Given the description of an element on the screen output the (x, y) to click on. 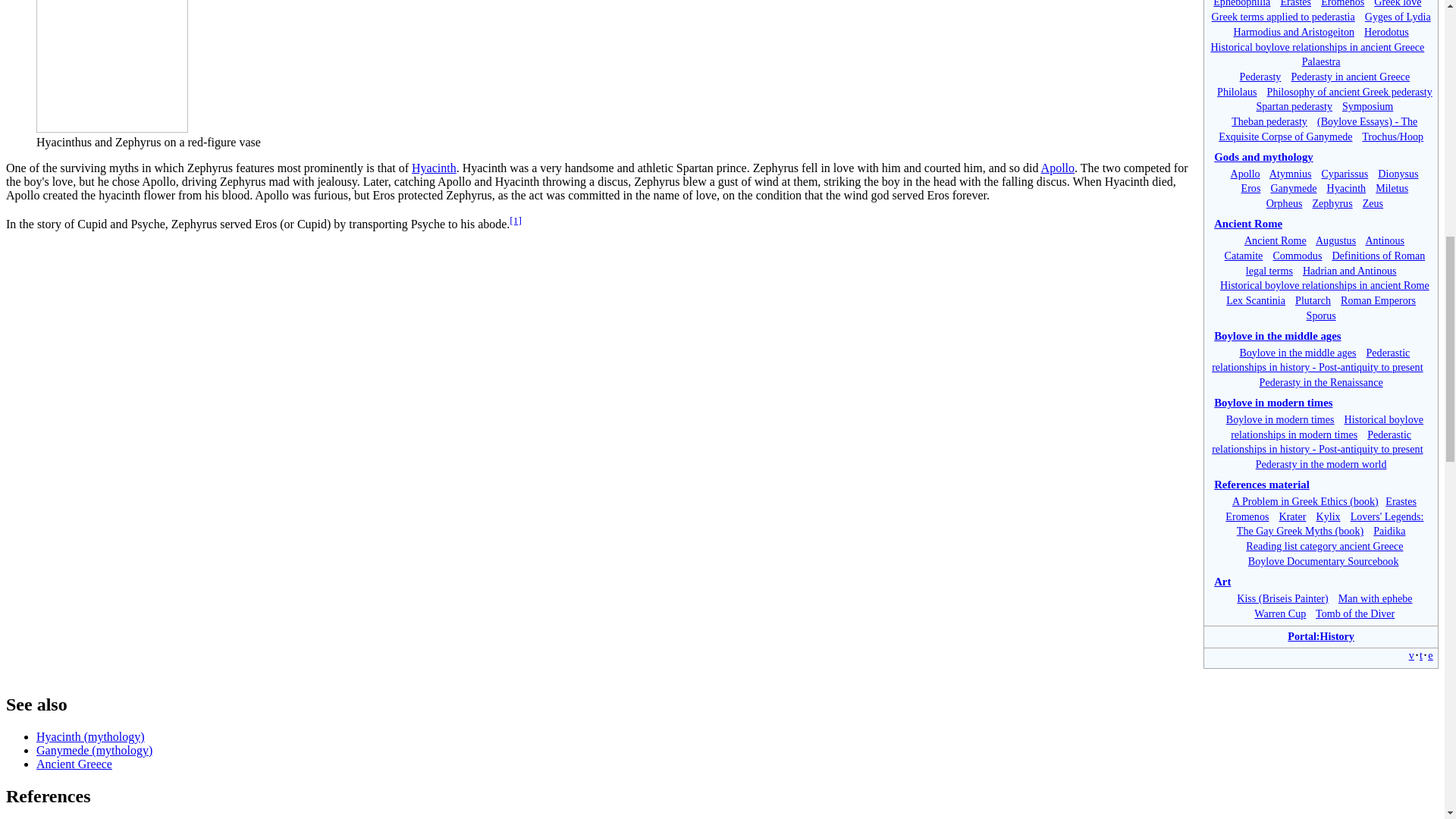
Erastes (1295, 3)
Gyges of Lydia (1398, 16)
Harmodius and Aristogeiton (1293, 31)
Greek love (1397, 3)
Eromenos (1342, 3)
Greek terms applied to pederastia (1283, 16)
Ephebophilia (1240, 3)
